Given the description of an element on the screen output the (x, y) to click on. 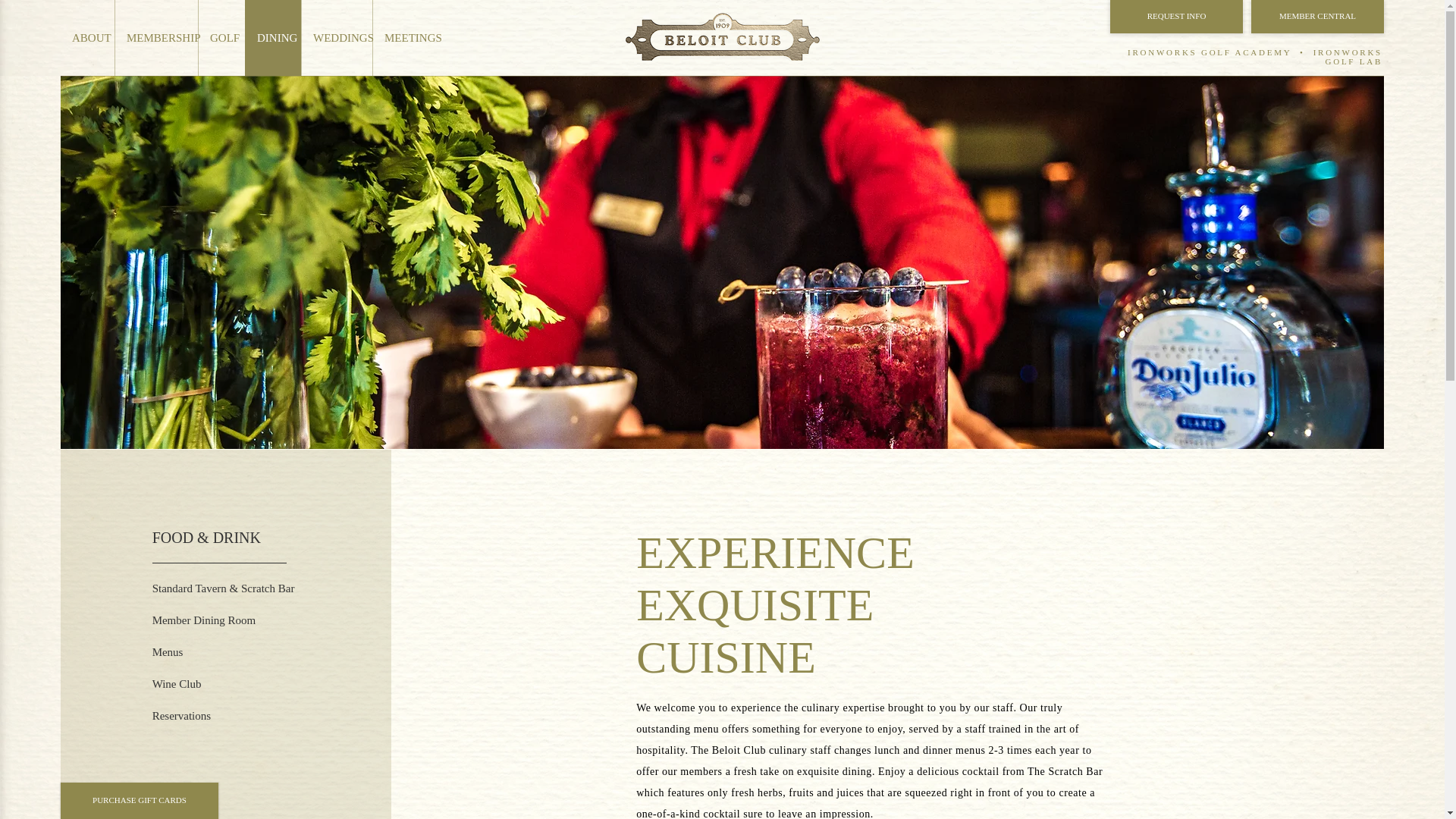
IRONWORKS GOLF LAB (1344, 56)
IRONWORKS GOLF ACADEMY (1208, 51)
MEETINGS (405, 38)
Member Dining Room (211, 620)
WEDDINGS (336, 38)
Wine Club (208, 684)
REQUEST INFO (1176, 16)
MEMBERSHIP (156, 38)
MEMBER CENTRAL (1317, 16)
Menus (208, 652)
